Given the description of an element on the screen output the (x, y) to click on. 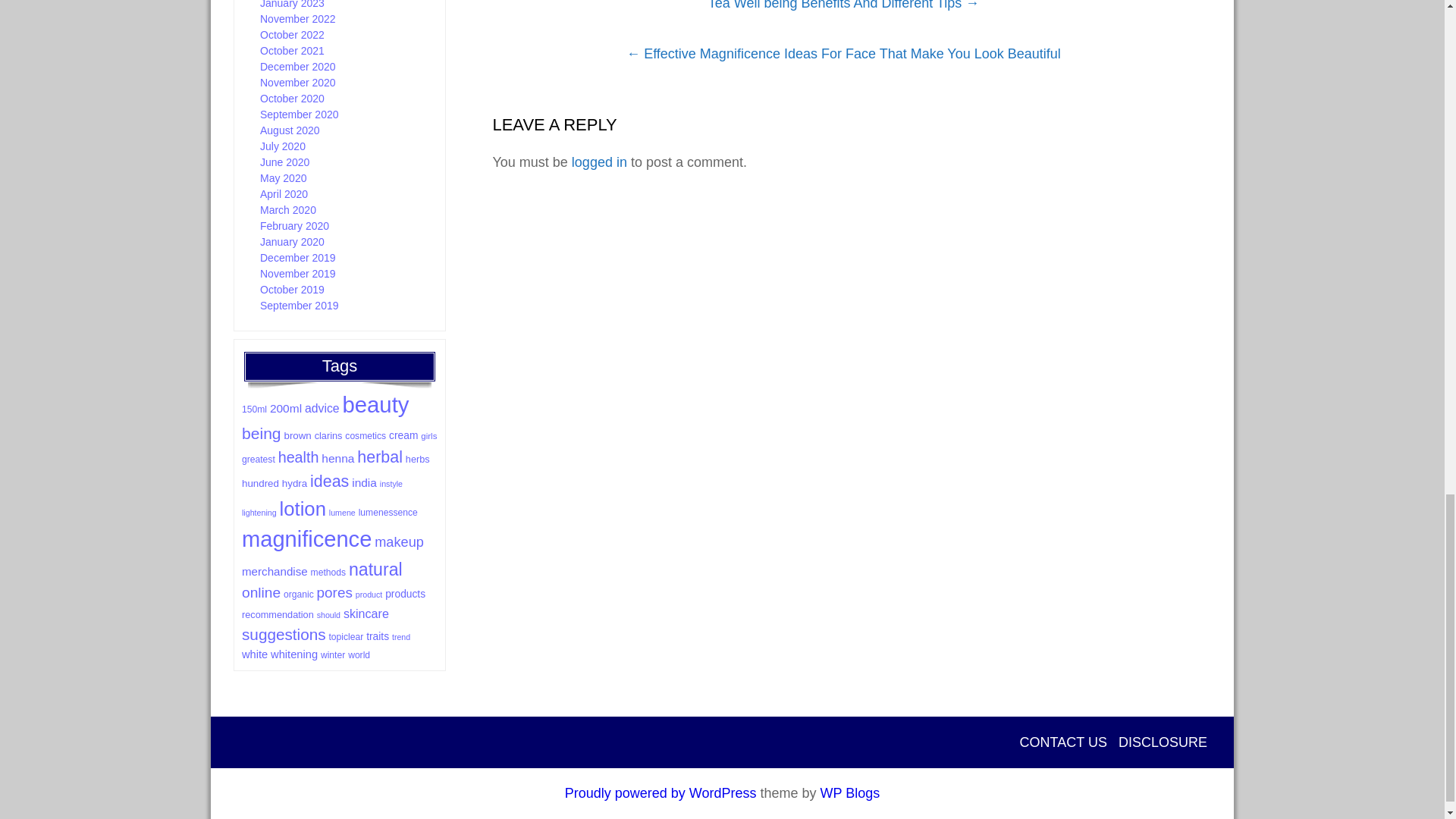
January 2023 (292, 4)
November 2022 (298, 19)
October 2021 (292, 50)
October 2022 (292, 34)
